Given the description of an element on the screen output the (x, y) to click on. 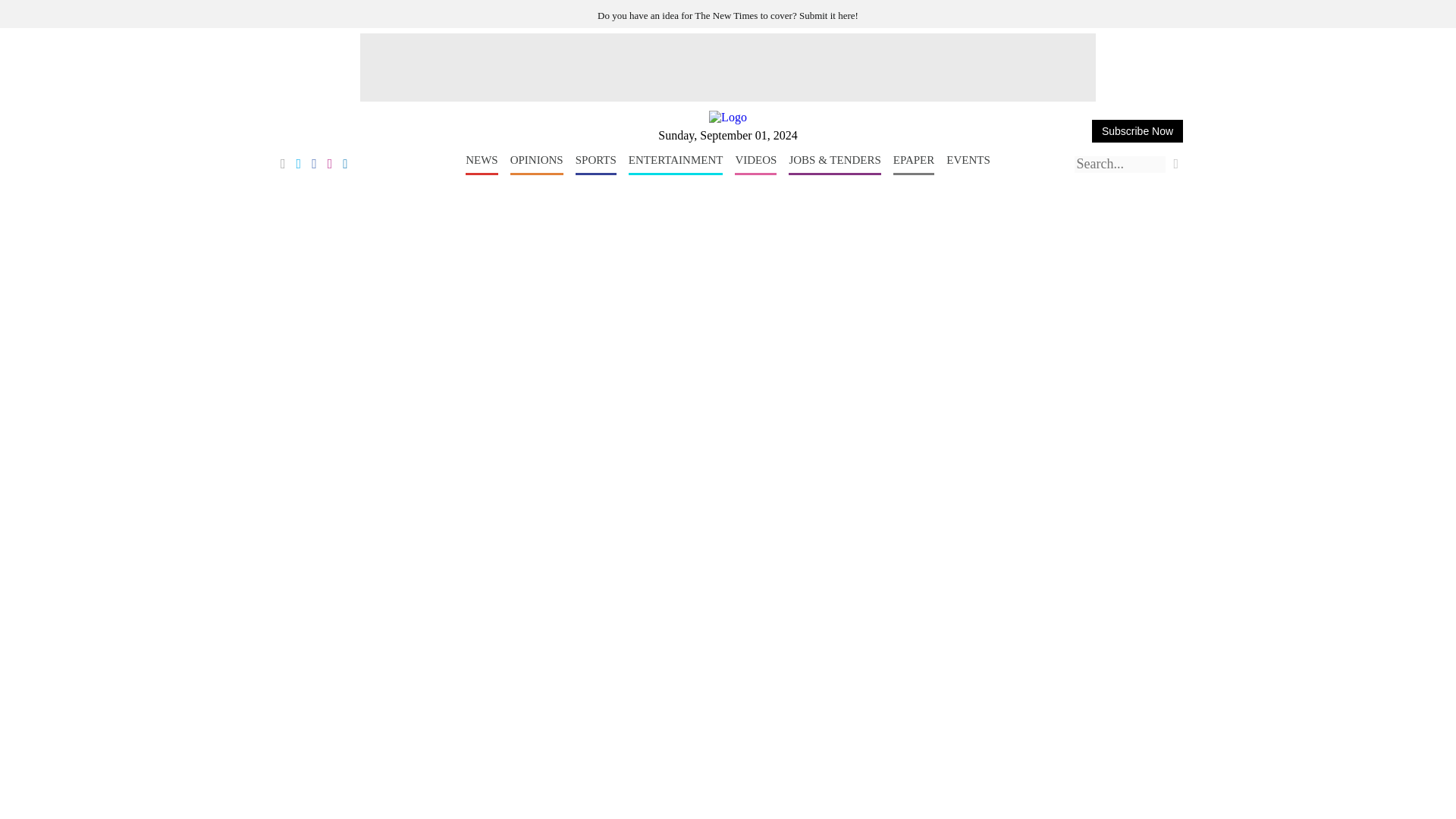
Submit New Ideas (727, 15)
NEWS (481, 164)
The New Times (727, 116)
SPORTS (595, 164)
OPINIONS (537, 164)
News (481, 164)
Subscribe Now (1137, 130)
